Given the description of an element on the screen output the (x, y) to click on. 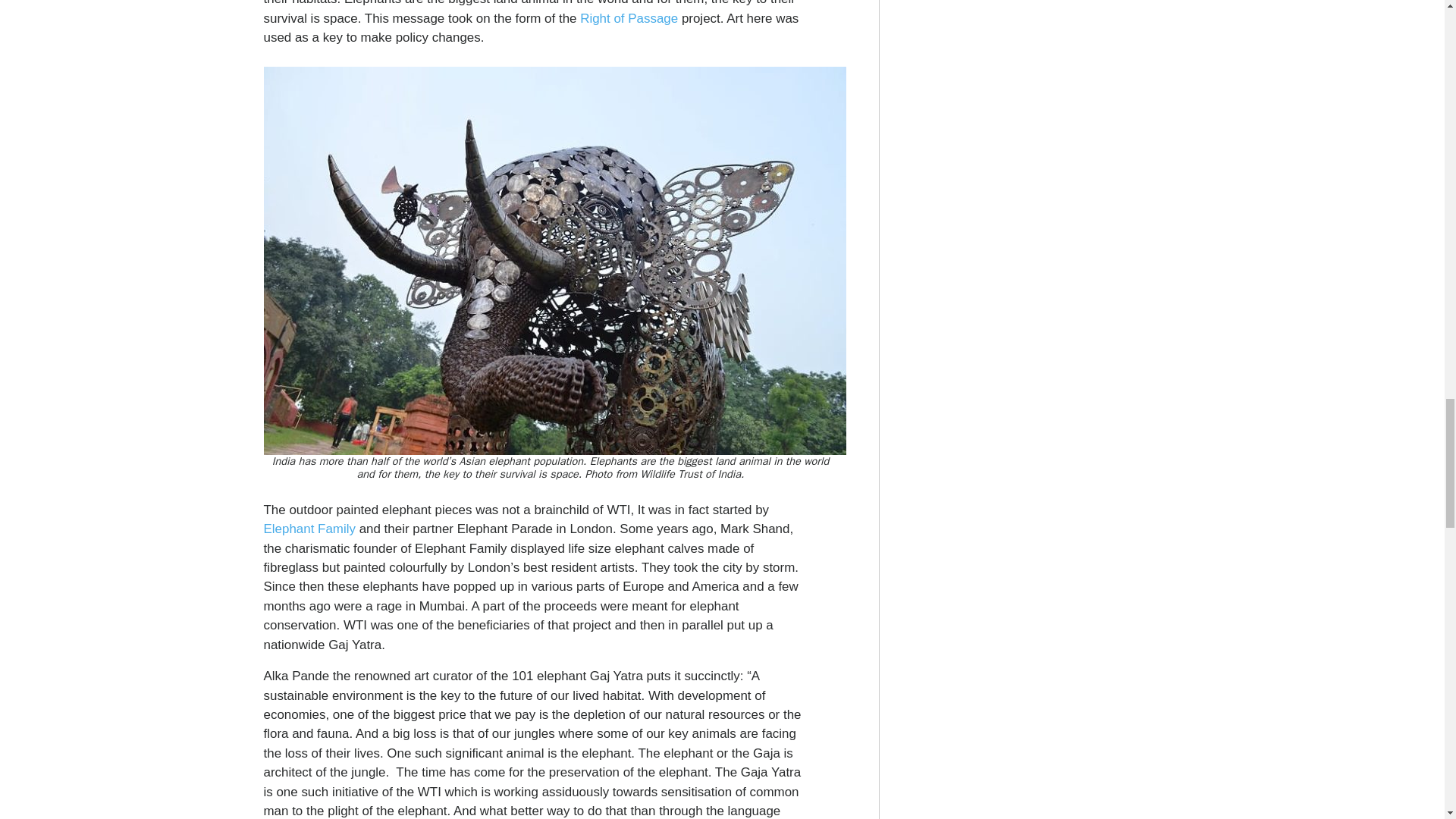
Right of Passage (628, 18)
Elephant Family (309, 528)
